Given the description of an element on the screen output the (x, y) to click on. 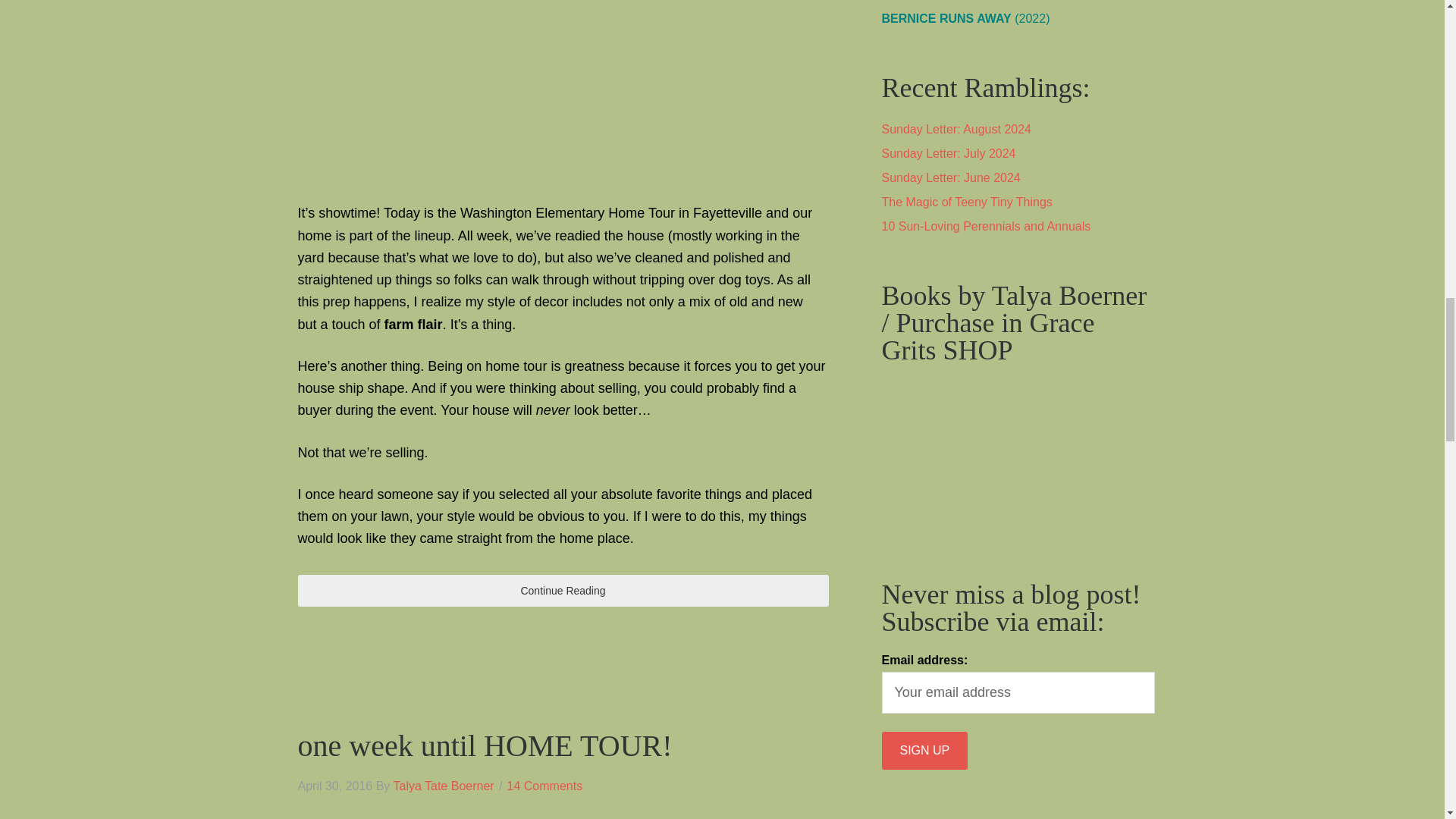
Continue Reading (562, 590)
Talya Tate Boerner (444, 785)
Sign up (924, 750)
one week until HOME TOUR! (484, 745)
14 Comments (544, 785)
